Given the description of an element on the screen output the (x, y) to click on. 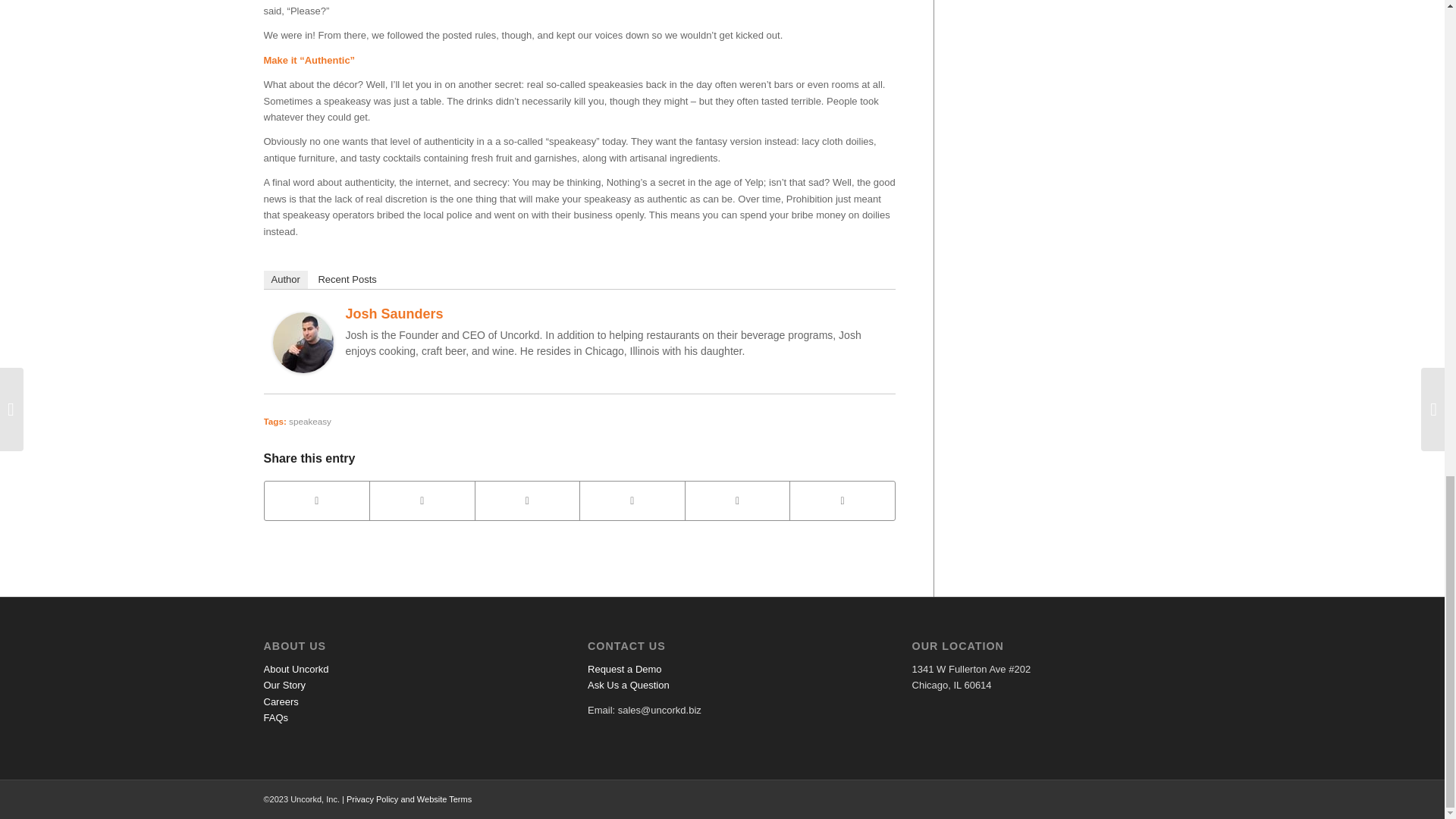
Author (285, 280)
speakeasy (309, 420)
Recent Posts (347, 280)
Josh Saunders (395, 313)
Josh Saunders (303, 369)
